Given the description of an element on the screen output the (x, y) to click on. 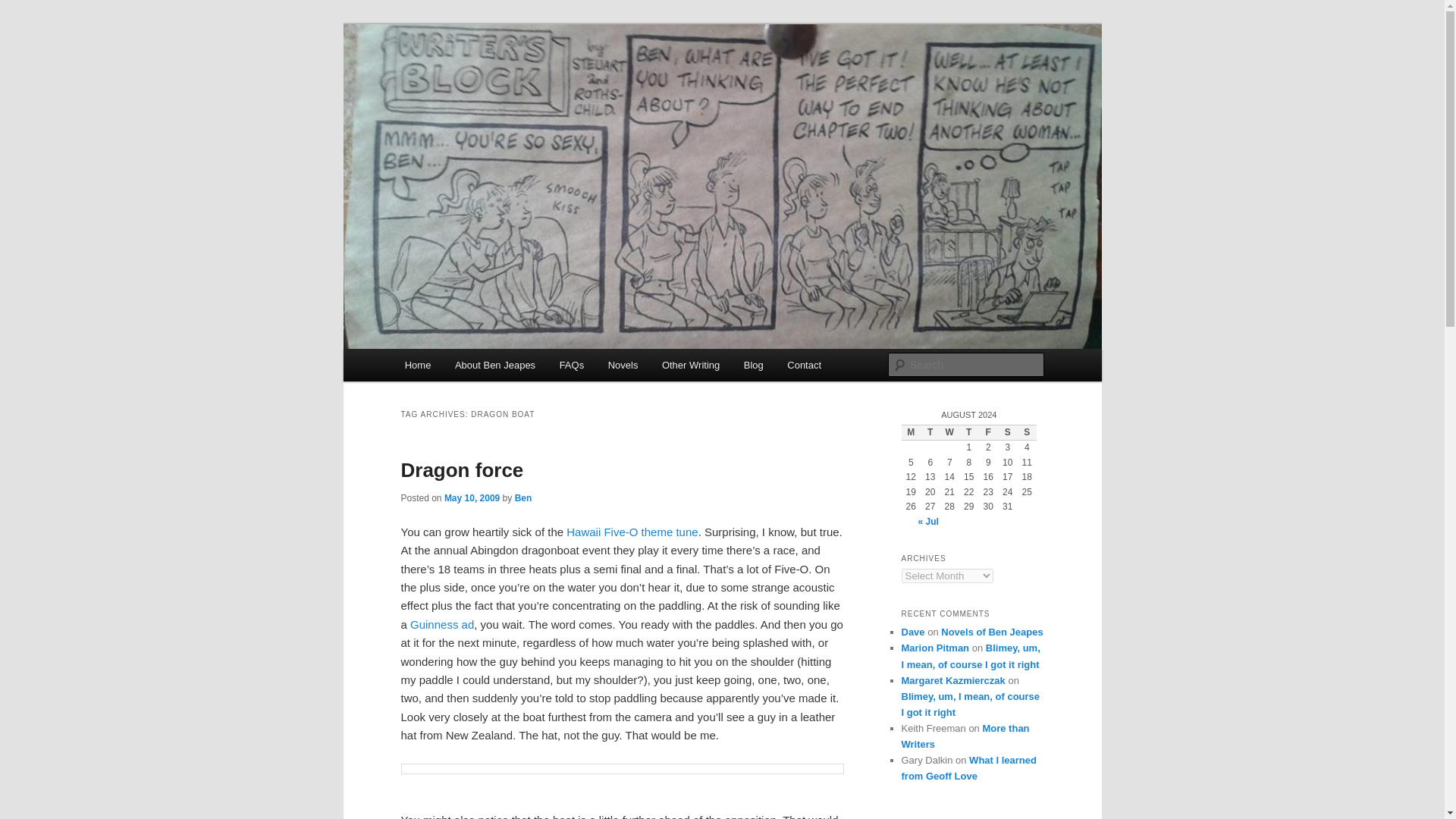
Tuesday (930, 433)
FAQs (571, 364)
View all posts by Ben (523, 498)
1:43 pm (471, 498)
Wednesday (949, 433)
Other Writing (690, 364)
Thursday (968, 433)
Novels (622, 364)
Home (417, 364)
Sunday (1026, 433)
